Given the description of an element on the screen output the (x, y) to click on. 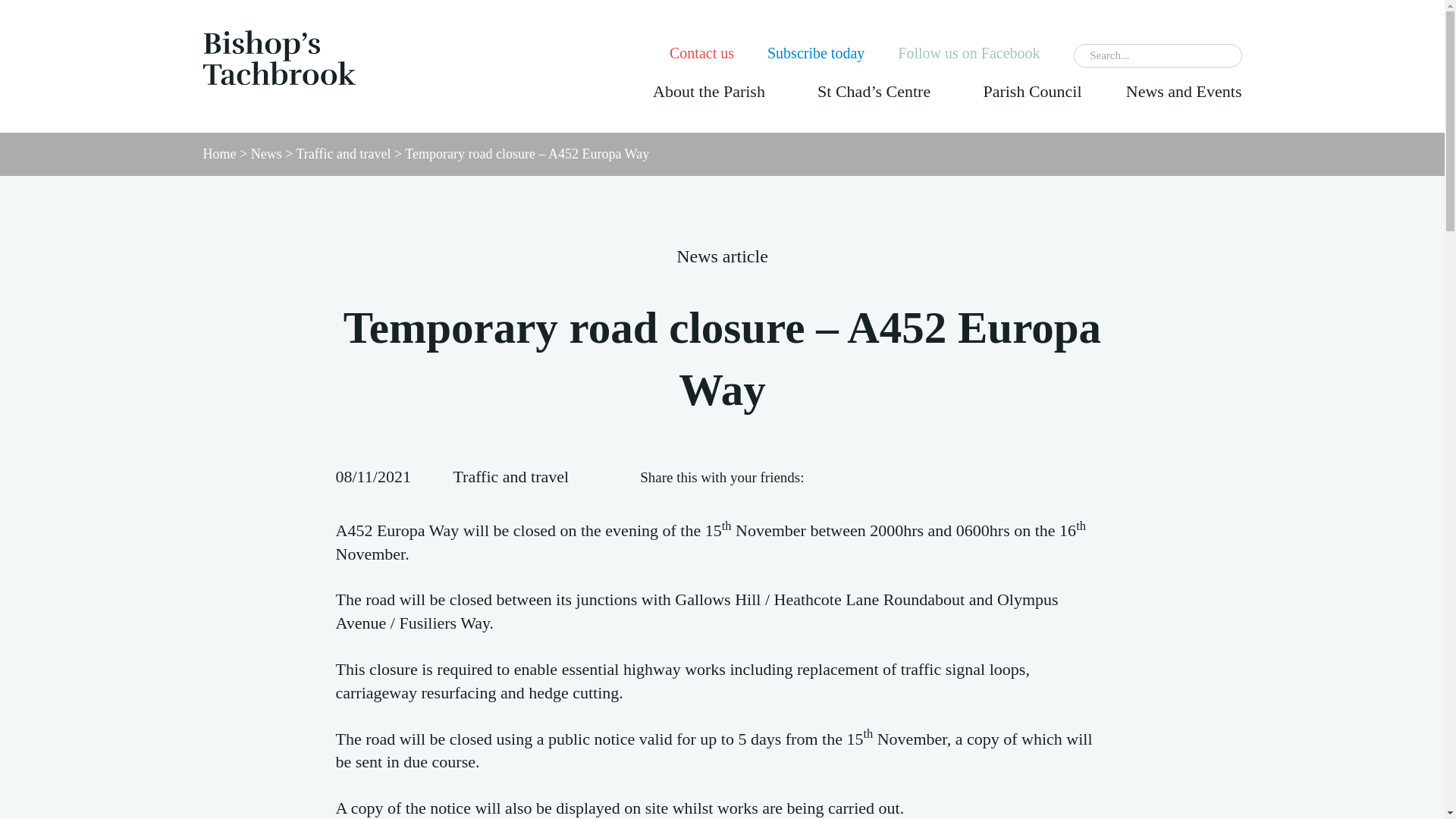
Contact us (701, 53)
Subscribe today (815, 53)
Follow us on Facebook (968, 53)
Go to Bishop's Tachbrook. (219, 153)
Home (219, 153)
Go to the Traffic and travel category archives. (342, 153)
Traffic and travel (342, 153)
About the Parish (708, 91)
Parish Council (1031, 91)
News (266, 153)
Go to News. (266, 153)
News and Events (1183, 91)
